Given the description of an element on the screen output the (x, y) to click on. 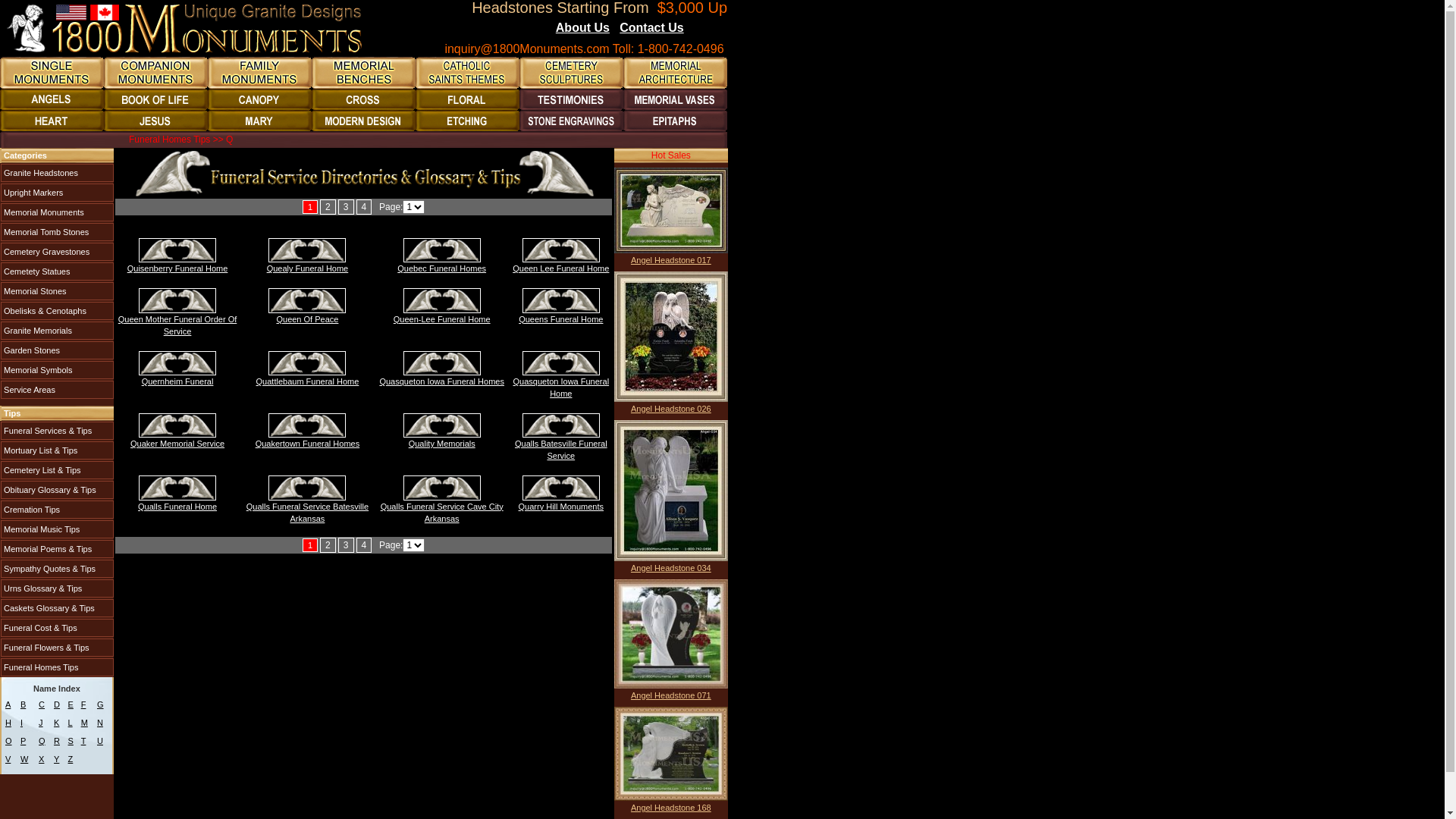
Angel Headstone 026 Element type: text (670, 407)
 Caskets Glossary & Tips Element type: text (56, 608)
1 Element type: text (309, 545)
4 Element type: text (364, 206)
O Element type: text (8, 740)
V Element type: text (7, 758)
 Memorial Symbols Element type: text (56, 369)
Quarry Hill Monuments Element type: text (560, 506)
J Element type: text (40, 722)
 Funeral Cost & Tips Element type: text (56, 627)
Angel Headstone 168 Element type: text (670, 807)
Queens Funeral Home Element type: hover (560, 300)
N Element type: text (100, 722)
Queens Funeral Home Element type: text (560, 318)
Quealy Funeral Home Element type: hover (306, 250)
Quaker Memorial Service Element type: hover (177, 425)
Queen Mother Funeral Order Of Service Element type: hover (177, 300)
Qualls Funeral Service Cave City Arkansas Element type: hover (441, 487)
Qualls Funeral Home Element type: hover (177, 487)
Quattlebaum Funeral Home Element type: text (307, 380)
Quality Memorials Element type: hover (441, 425)
H Element type: text (8, 722)
3 Element type: text (346, 206)
D Element type: text (56, 704)
Queen-Lee Funeral Home Element type: text (441, 318)
 Cremation Tips Element type: text (56, 509)
1 Element type: text (309, 206)
E Element type: text (70, 704)
About Us Element type: text (582, 27)
Queen Mother Funeral Order Of Service Element type: text (177, 324)
Qualls Funeral Service Cave City Arkansas Element type: text (441, 512)
 Obituary Glossary & Tips Element type: text (56, 489)
Quebec Funeral Homes Element type: hover (441, 250)
Quebec Funeral Homes Element type: text (441, 268)
4 Element type: text (364, 544)
Quisenberry Funeral Home Element type: text (177, 268)
 Cemetety Statues Element type: text (56, 271)
Angel Headstone 034 Element type: hover (671, 490)
Angel Headstone 168 Element type: hover (671, 753)
 Memorial Monuments Element type: text (56, 212)
S Element type: text (70, 740)
 Obelisks & Cenotaphs Element type: text (56, 310)
Quernheim Funeral Element type: hover (177, 363)
Quakertown Funeral Homes Element type: hover (306, 425)
C Element type: text (41, 704)
 Cemetery Gravestones Element type: text (56, 251)
Quernheim Funeral Element type: text (177, 380)
M Element type: text (84, 722)
Angel Headstone 017 Element type: hover (671, 210)
X Element type: text (40, 758)
I Element type: text (21, 722)
Qualls Funeral Home Element type: text (177, 506)
T Element type: text (83, 740)
3 Element type: text (346, 544)
 Funeral Flowers & Tips Element type: text (56, 647)
Angel Headstone 071 Element type: text (670, 694)
Quasqueton Iowa Funeral Home Element type: text (560, 387)
Queen Of Peace Element type: hover (306, 300)
U Element type: text (100, 740)
 Granite Memorials Element type: text (56, 330)
 Sympathy Quotes & Tips Element type: text (56, 568)
 Garden Stones Element type: text (56, 350)
Q Element type: text (41, 740)
 Service Areas Element type: text (56, 389)
W Element type: text (24, 758)
Quasqueton Iowa Funeral Home Element type: hover (560, 363)
2 Element type: text (327, 206)
Blogs Element type: text (704, 28)
Quealy Funeral Home Element type: text (307, 268)
 Urns Glossary & Tips Element type: text (56, 588)
 Upright Markers Element type: text (56, 192)
K Element type: text (56, 722)
Angel Headstone 034 Element type: text (670, 566)
R Element type: text (56, 740)
Z Element type: text (70, 758)
 Granite Headstones Element type: text (56, 172)
 Memorial Poems & Tips Element type: text (56, 548)
 Memorial Music Tips Element type: text (56, 529)
2 Element type: text (327, 544)
Quattlebaum Funeral Home Element type: hover (306, 363)
Qualls Batesville Funeral Service Element type: hover (560, 425)
Queen Of Peace Element type: text (307, 318)
Quisenberry Funeral Home Element type: hover (177, 250)
Contact Us Element type: text (651, 27)
Quasqueton Iowa Funeral Homes Element type: hover (441, 363)
A Element type: text (7, 704)
Angel Headstone 017 Element type: text (670, 258)
inquiry@1800Monuments.com Element type: text (526, 48)
P Element type: text (22, 740)
Angel Headstone 026 Element type: hover (671, 336)
Y Element type: text (56, 758)
Queen-Lee Funeral Home Element type: hover (441, 300)
 Memorial Stones Element type: text (56, 291)
Qualls Funeral Service Batesville Arkansas Element type: hover (306, 487)
Queen Lee Funeral Home Element type: hover (560, 250)
Quakertown Funeral Homes Element type: text (307, 443)
 Cemetery List & Tips Element type: text (56, 470)
 Memorial Tomb Stones Element type: text (56, 231)
Queen Lee Funeral Home Element type: text (560, 268)
Quaker Memorial Service Element type: text (177, 443)
 Funeral Homes Tips Element type: text (56, 667)
G Element type: text (100, 704)
Angel Headstone 071 Element type: hover (671, 633)
L Element type: text (70, 722)
Quarry Hill Monuments Element type: hover (560, 487)
Qualls Batesville Funeral Service Element type: text (560, 449)
 Mortuary List & Tips Element type: text (56, 450)
Quality Memorials Element type: text (441, 443)
Quasqueton Iowa Funeral Homes Element type: text (441, 380)
B Element type: text (22, 704)
1800Monuments.com Element type: hover (185, 28)
Qualls Funeral Service Batesville Arkansas Element type: text (307, 512)
F Element type: text (83, 704)
 Funeral Services & Tips Element type: text (56, 430)
